Given the description of an element on the screen output the (x, y) to click on. 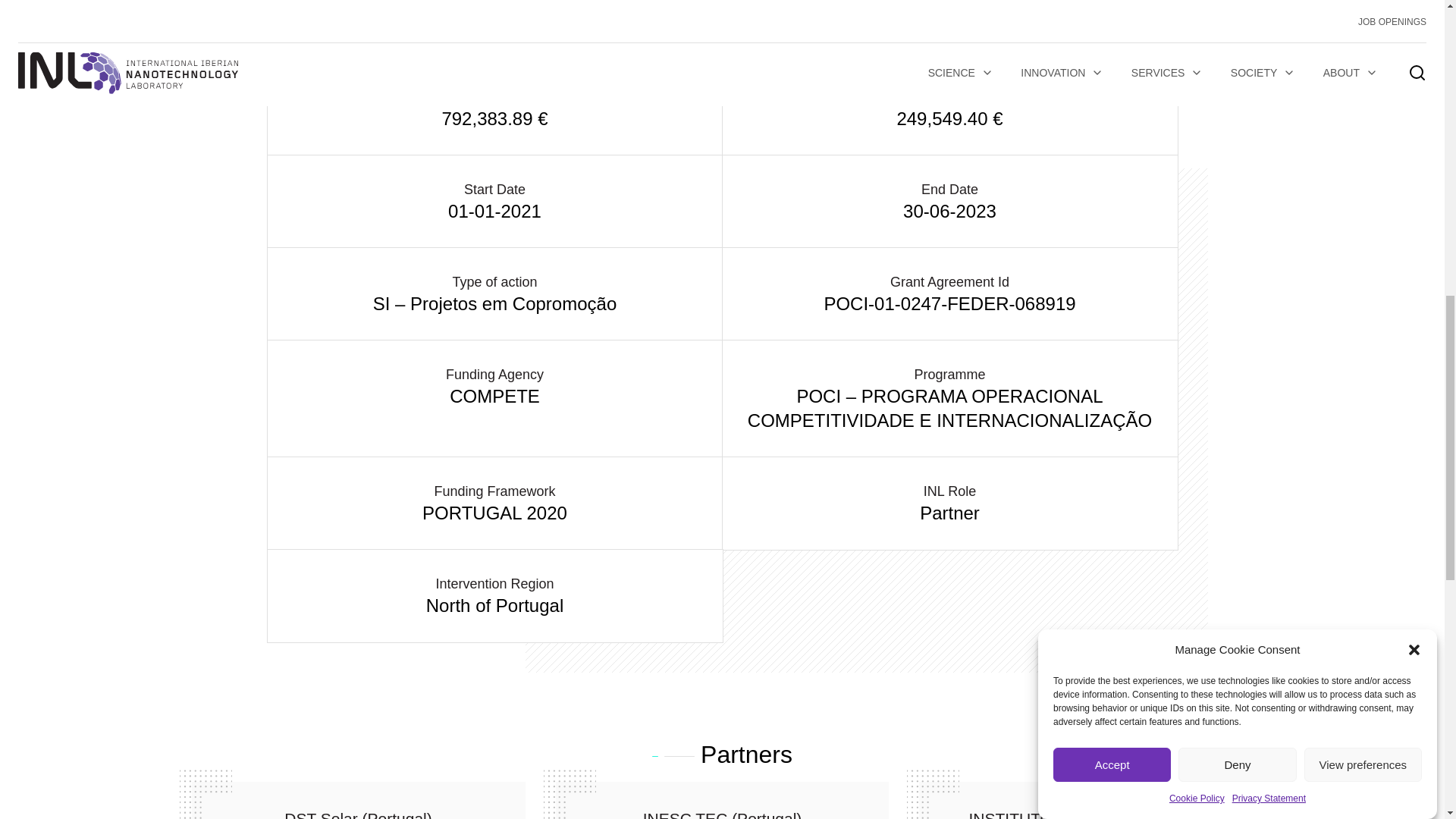
Deny (1236, 218)
Accept (1111, 234)
View preferences (1363, 202)
Privacy Statement (1268, 153)
Cookie Policy (1196, 165)
